Given the description of an element on the screen output the (x, y) to click on. 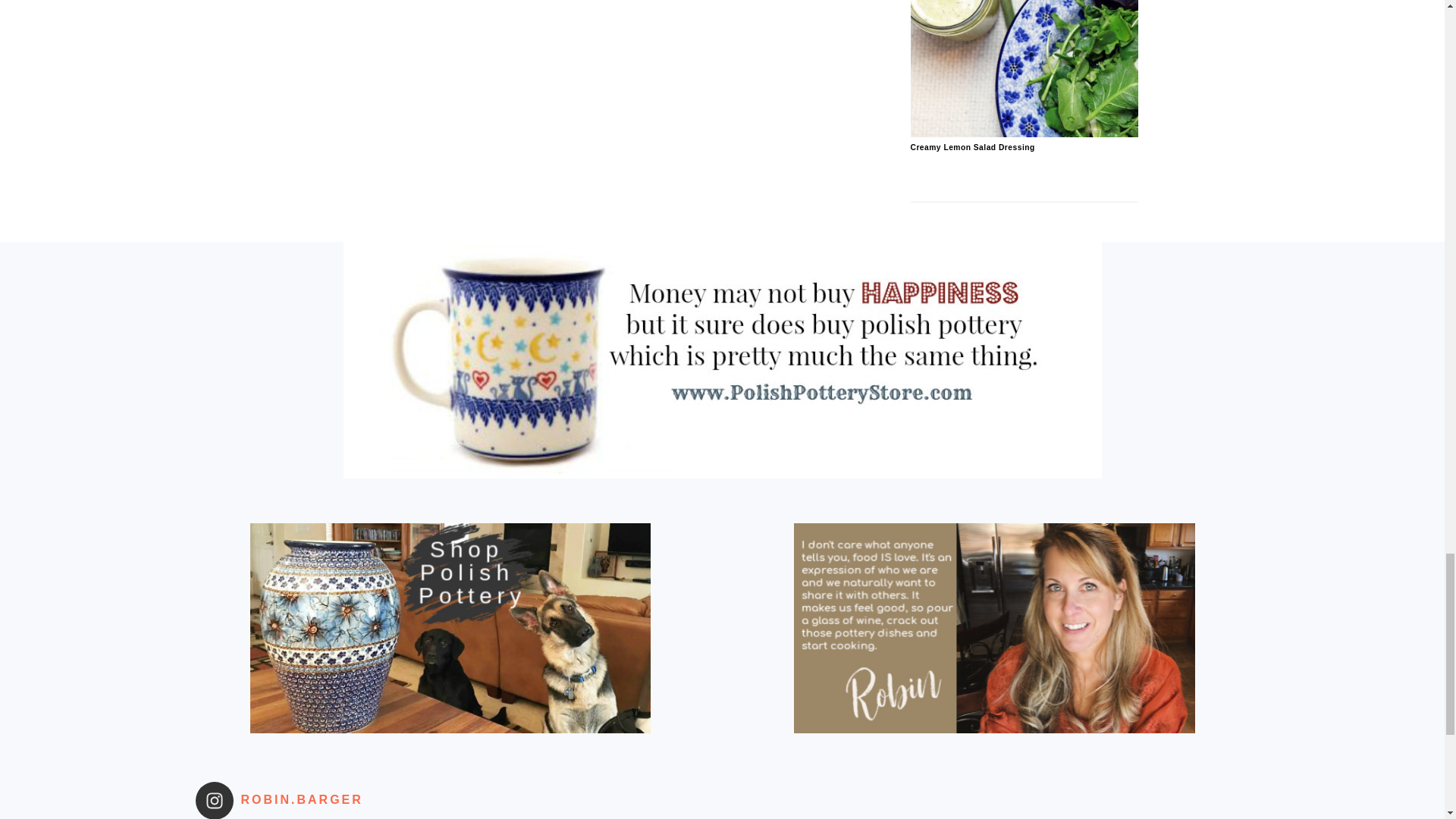
Creamy Lemon Salad Dressing (1023, 133)
Creamy Lemon Salad Dressing (971, 147)
ROBIN.BARGER (298, 800)
